Given the description of an element on the screen output the (x, y) to click on. 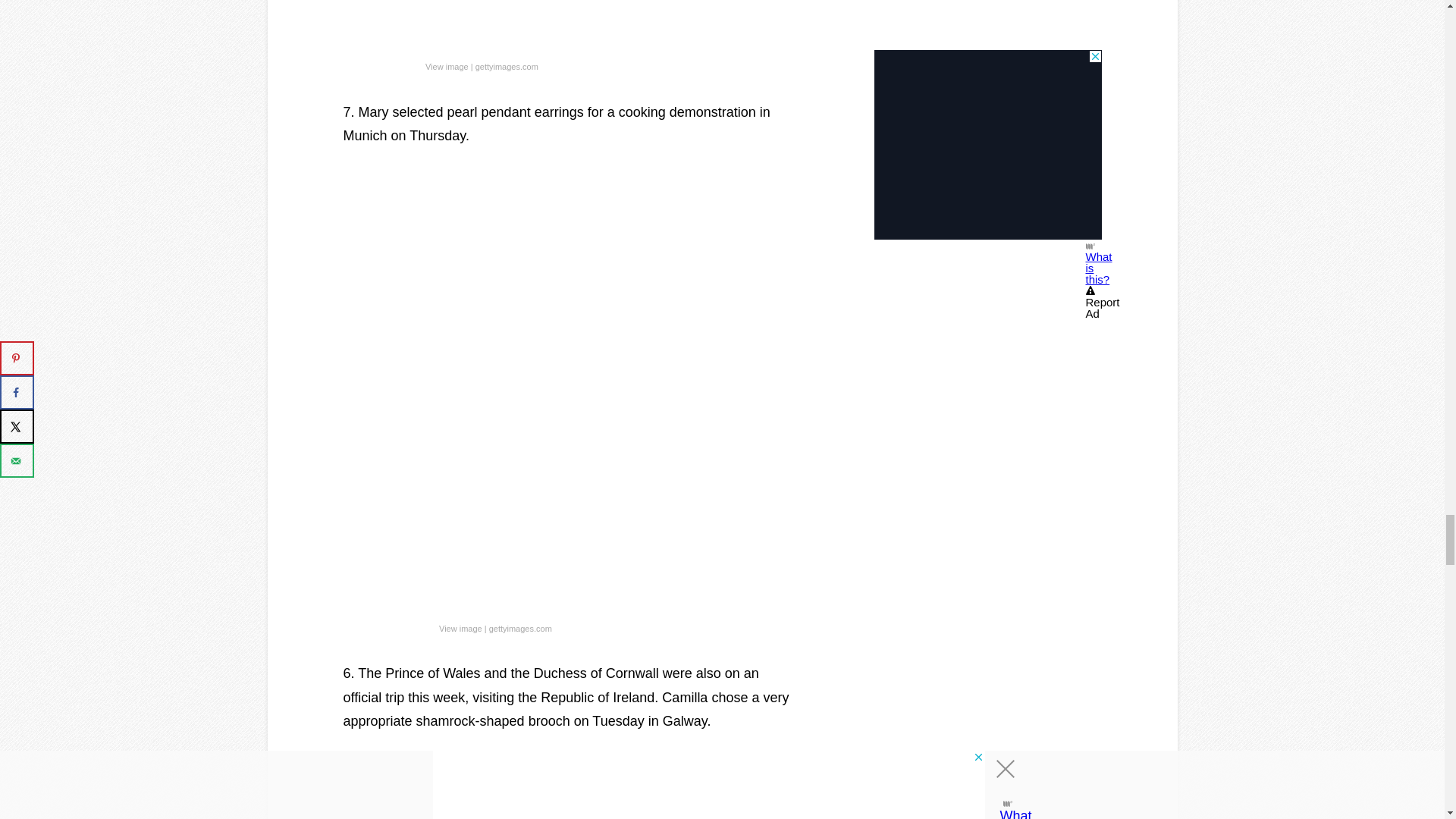
gettyimages.com (507, 67)
gettyimages.com (520, 629)
View image (460, 629)
View image (446, 67)
